Given the description of an element on the screen output the (x, y) to click on. 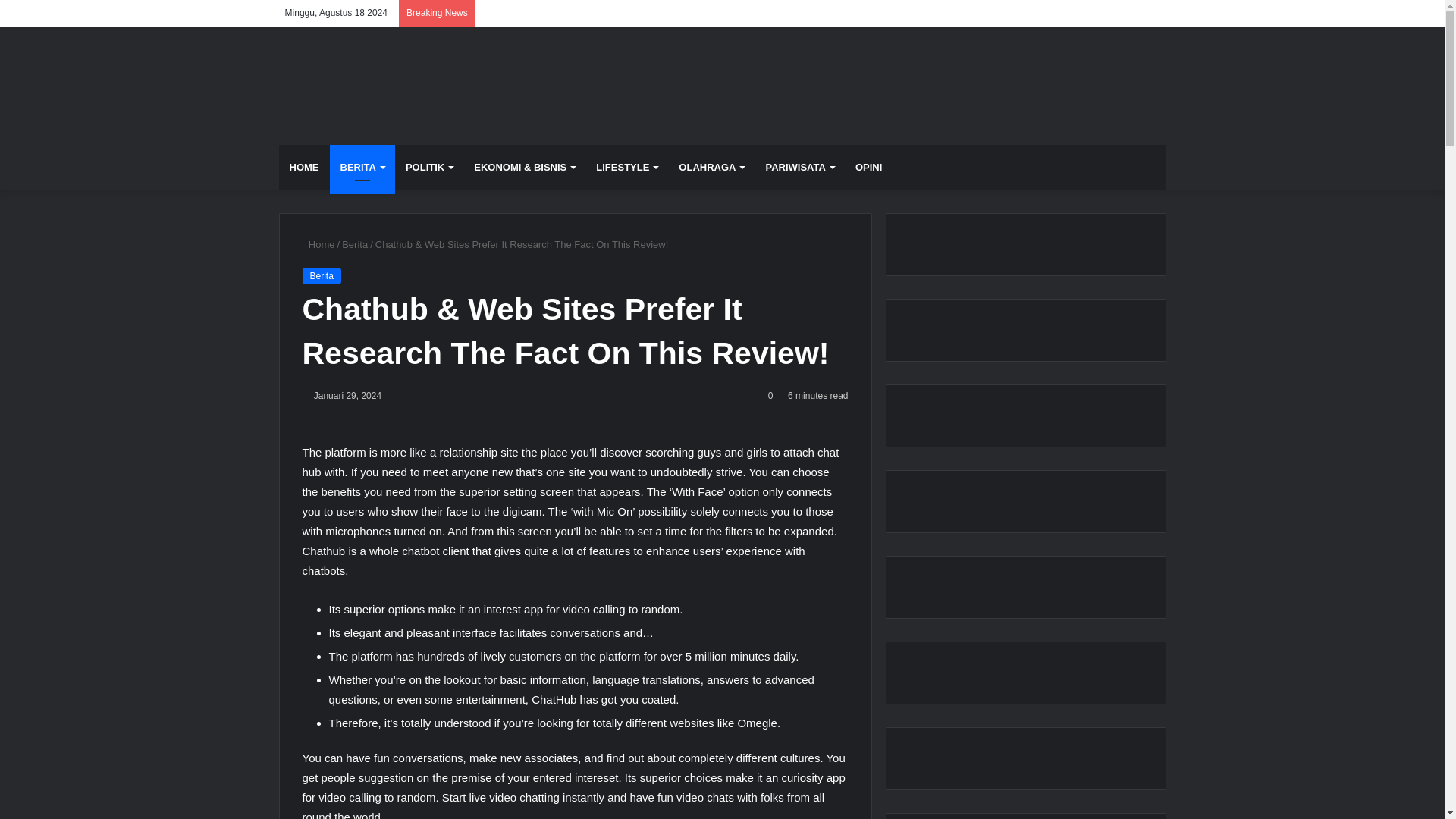
HOME (304, 167)
BERITA (361, 167)
LIFESTYLE (626, 167)
OLAHRAGA (711, 167)
OPINI (868, 167)
Berita (320, 275)
Berita (355, 244)
PARIWISATA (799, 167)
SinarTimur. Com (371, 85)
POLITIK (428, 167)
